Given the description of an element on the screen output the (x, y) to click on. 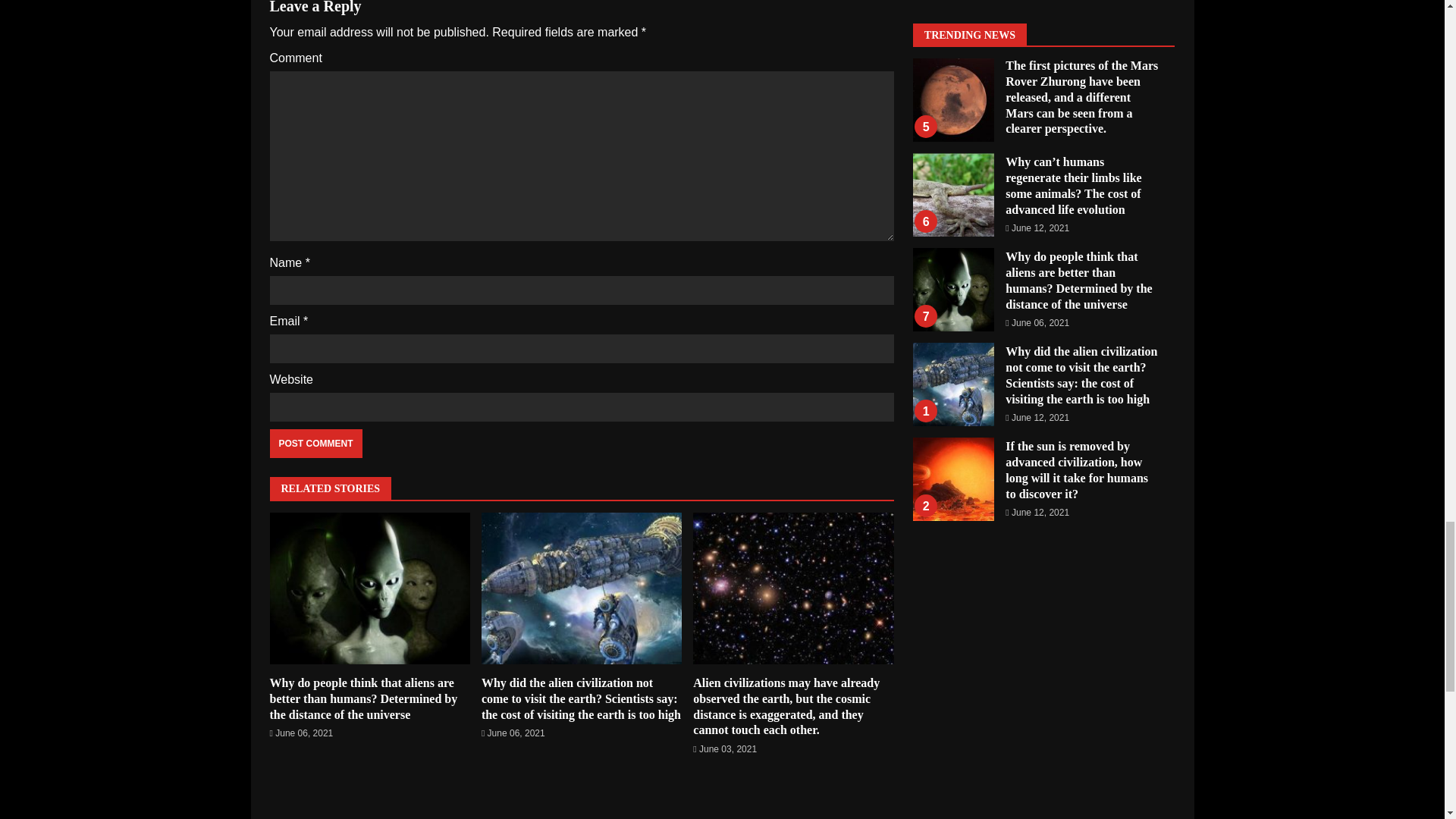
Post Comment (315, 443)
Post Comment (315, 443)
